Given the description of an element on the screen output the (x, y) to click on. 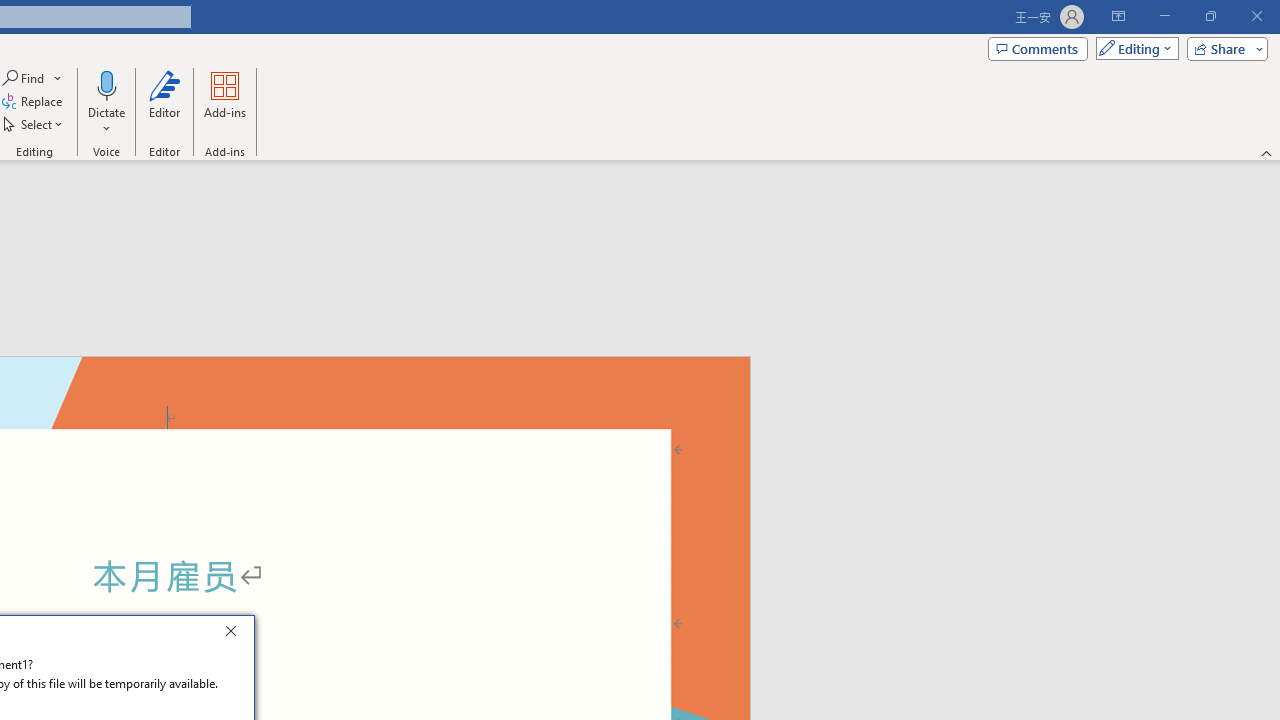
Mode (1133, 47)
